Given the description of an element on the screen output the (x, y) to click on. 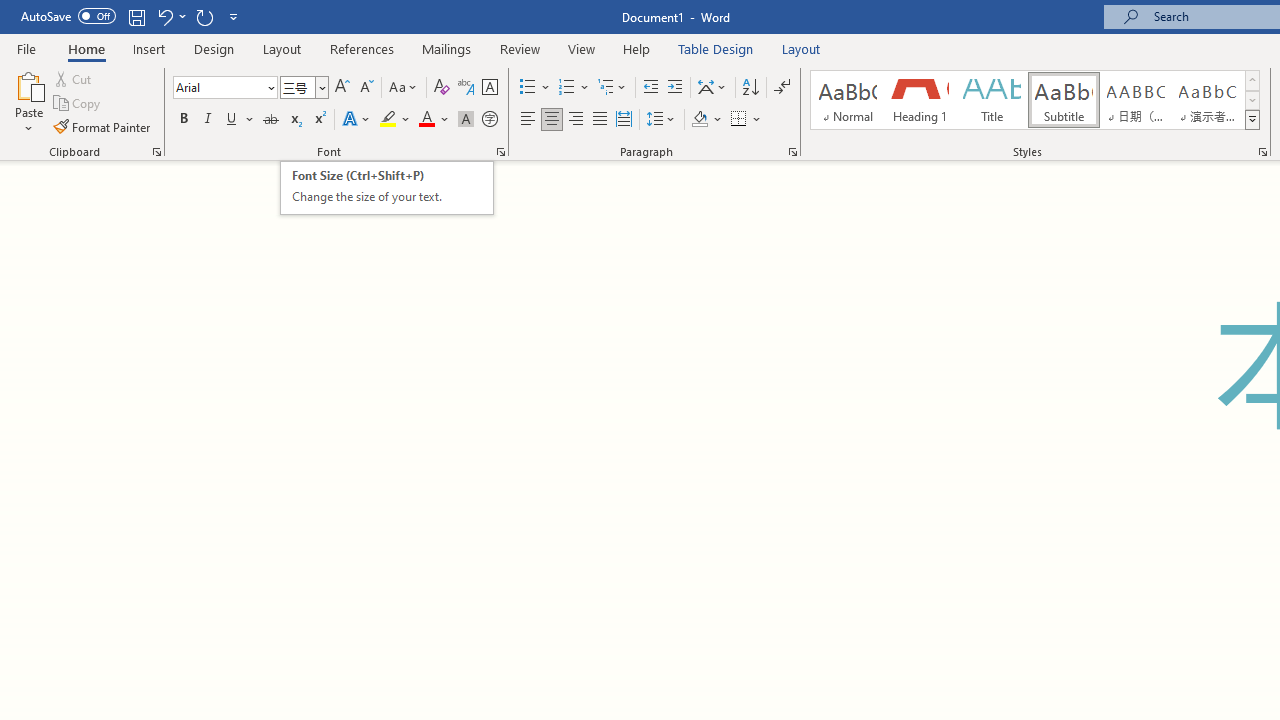
Subtitle (1063, 100)
